Given the description of an element on the screen output the (x, y) to click on. 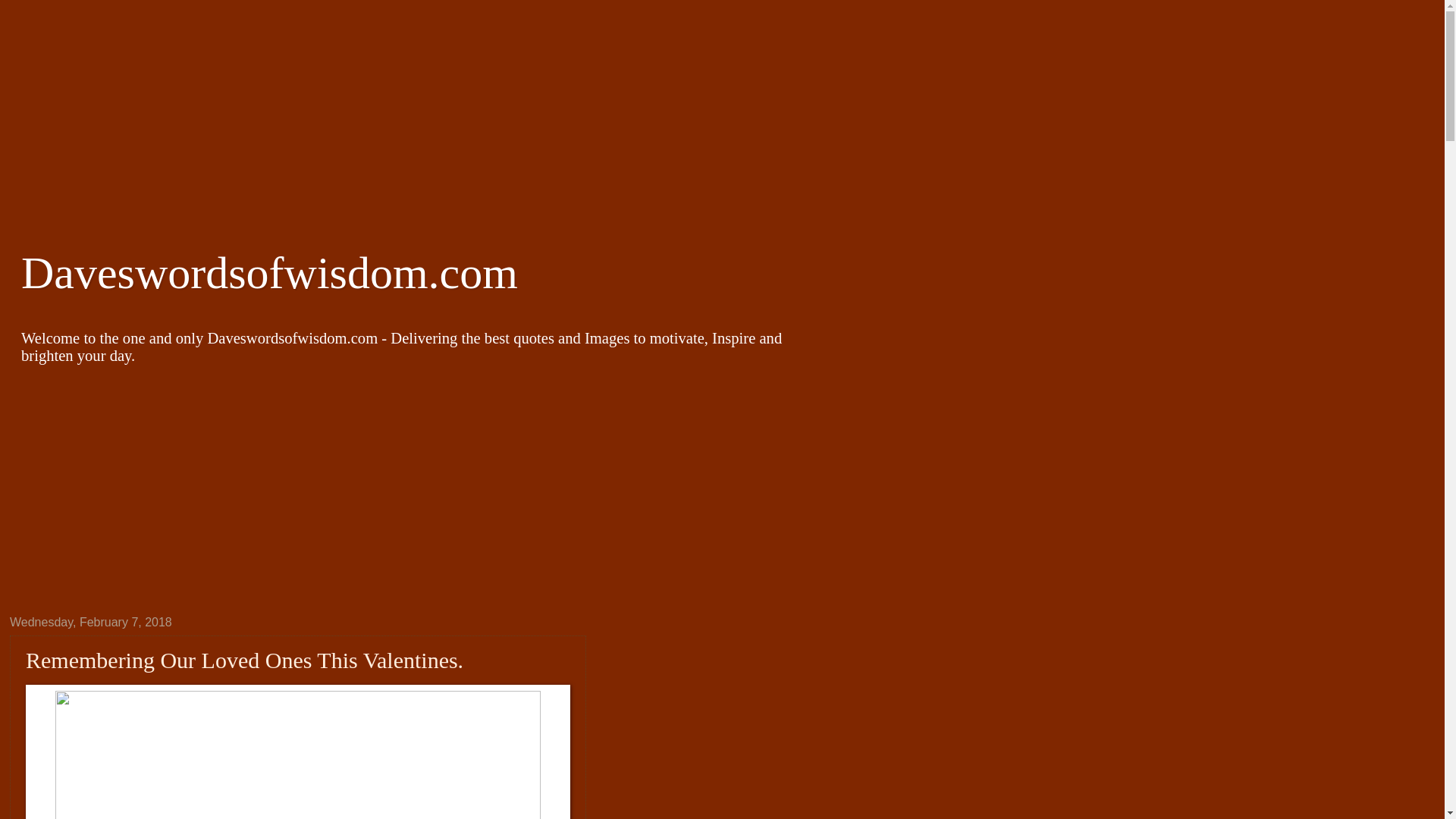
Daveswordsofwisdom.com (269, 273)
